Given the description of an element on the screen output the (x, y) to click on. 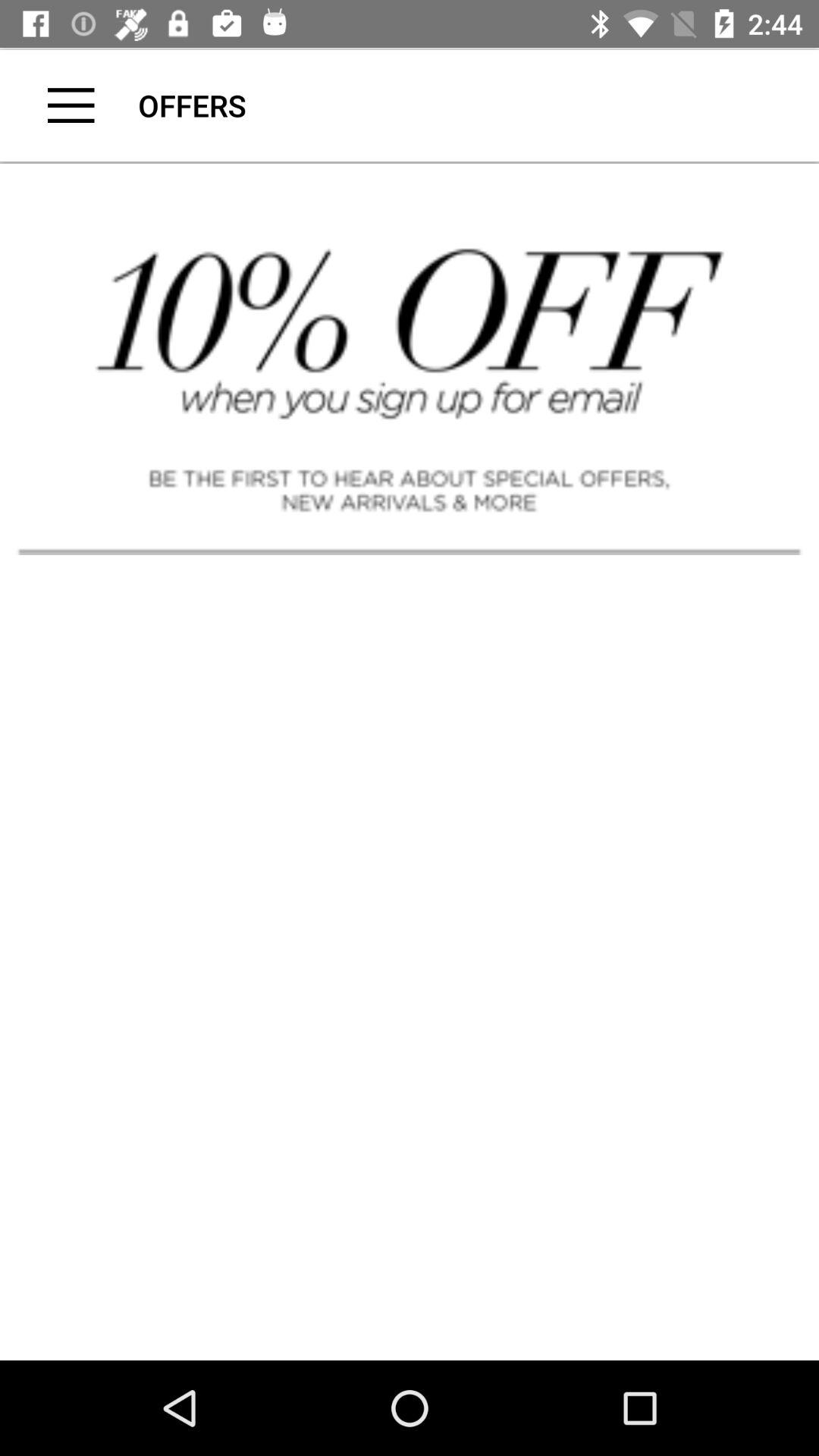
menu (70, 105)
